Given the description of an element on the screen output the (x, y) to click on. 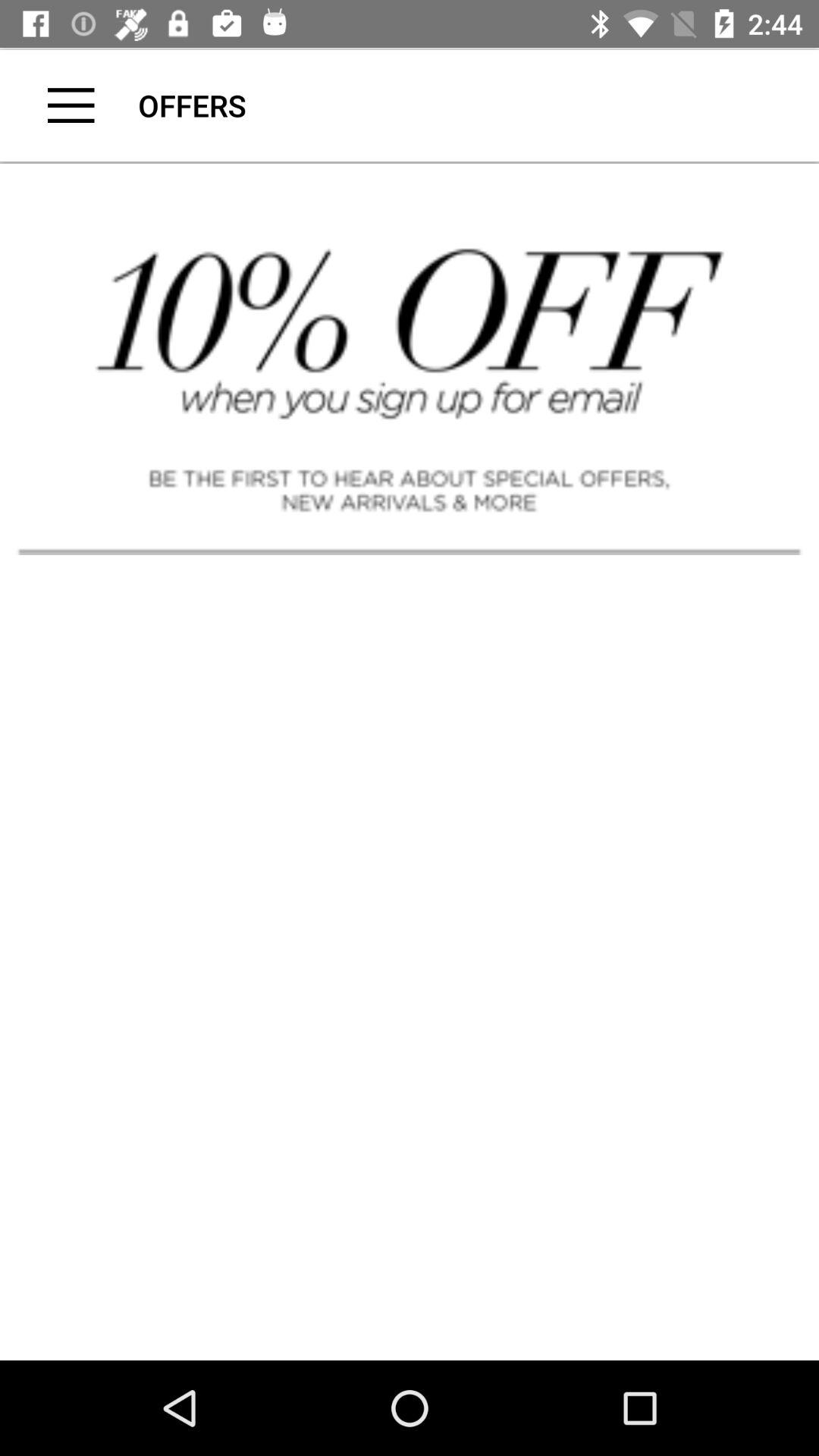
menu (70, 105)
